Given the description of an element on the screen output the (x, y) to click on. 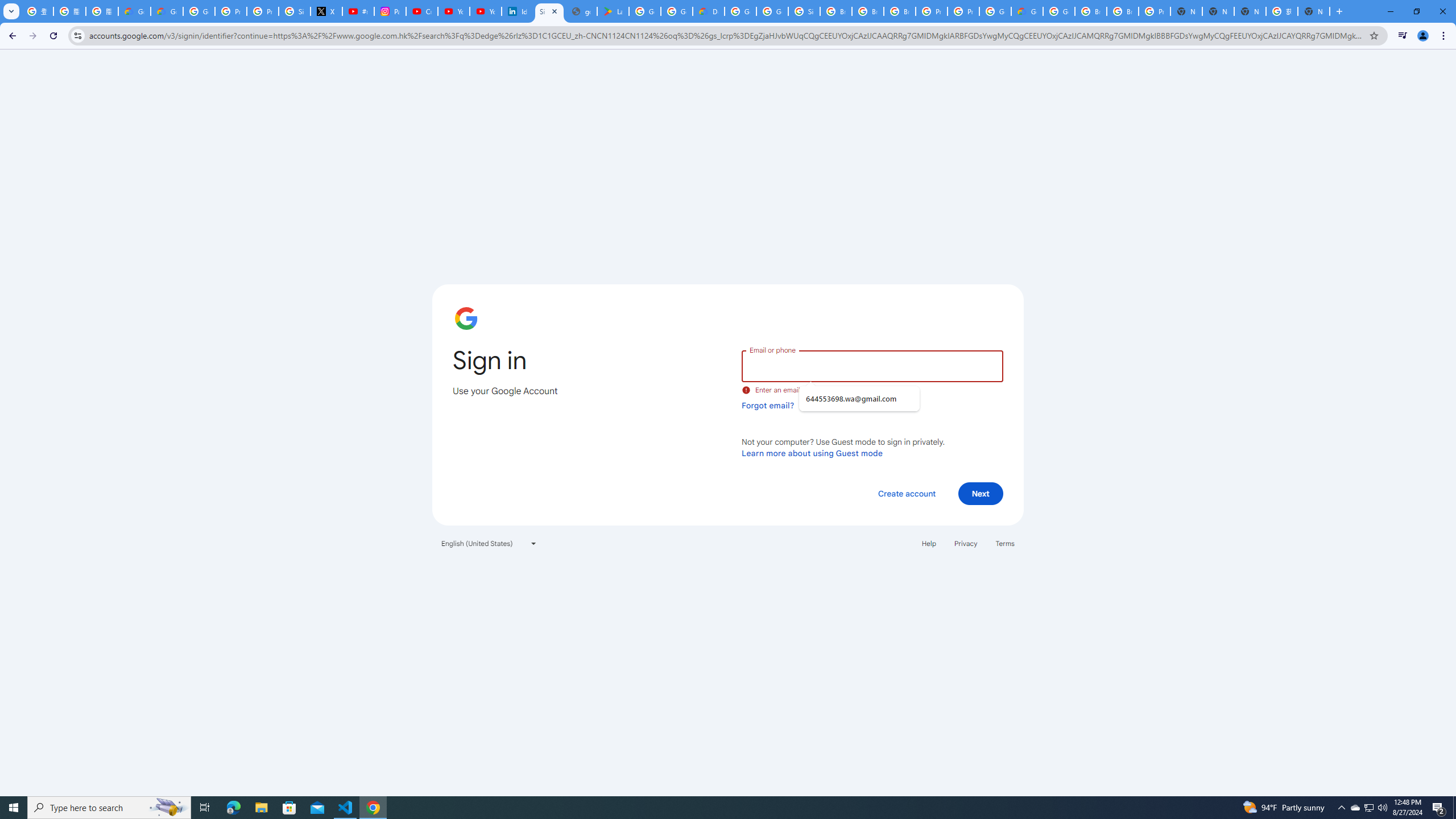
Forgot email? (767, 404)
Address and search bar (725, 35)
YouTube Culture & Trends - YouTube Top 10, 2021 (485, 11)
google_privacy_policy_en.pdf (581, 11)
Create account (905, 493)
Control your music, videos, and more (1402, 35)
Email or phone (871, 365)
Privacy Help Center - Policies Help (262, 11)
